Given the description of an element on the screen output the (x, y) to click on. 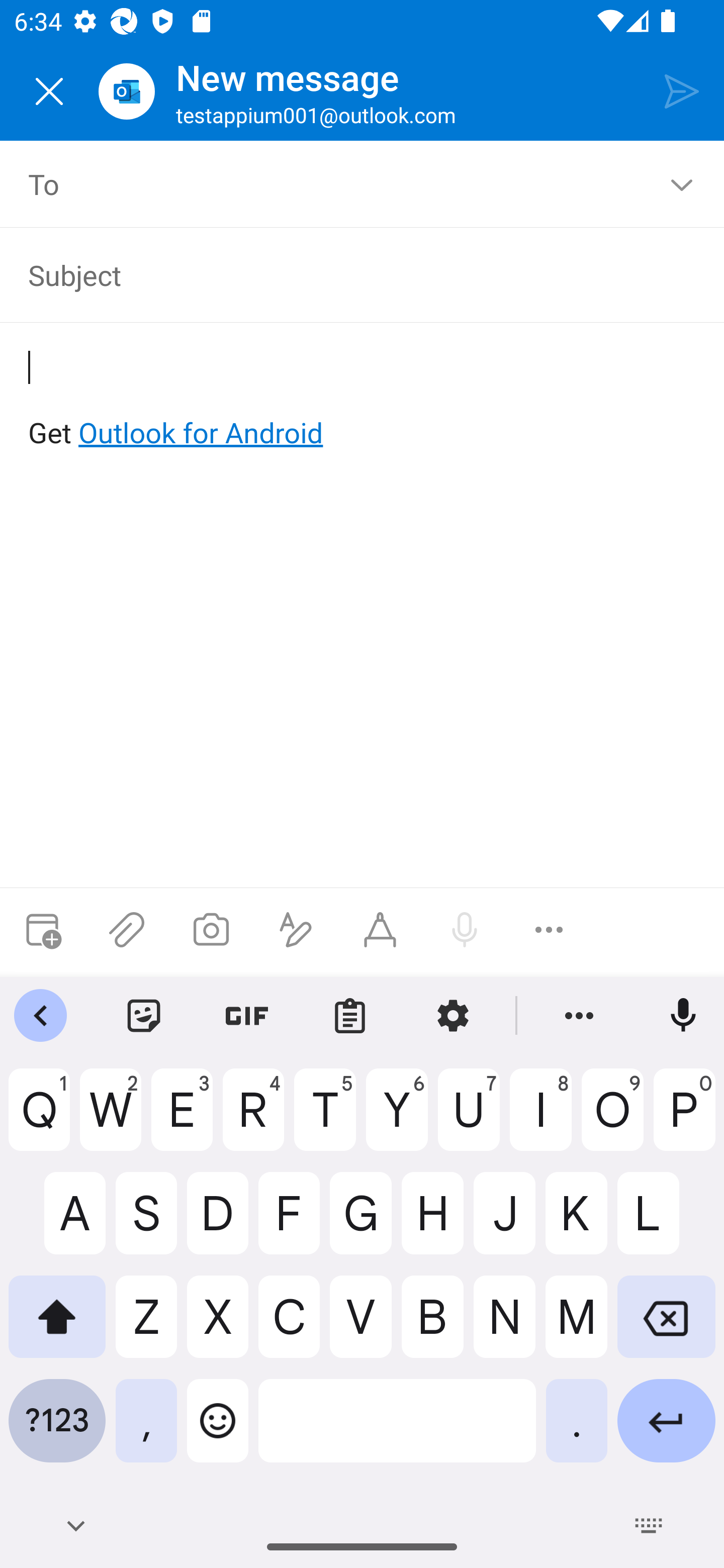
Close (49, 91)
Send (681, 90)
Subject (347, 274)


Get Outlook for Android (363, 400)
Attach meeting (42, 929)
Attach files (126, 929)
Take a photo (210, 929)
Show formatting options (295, 929)
Start Ink compose (380, 929)
More options (548, 929)
